Given the description of an element on the screen output the (x, y) to click on. 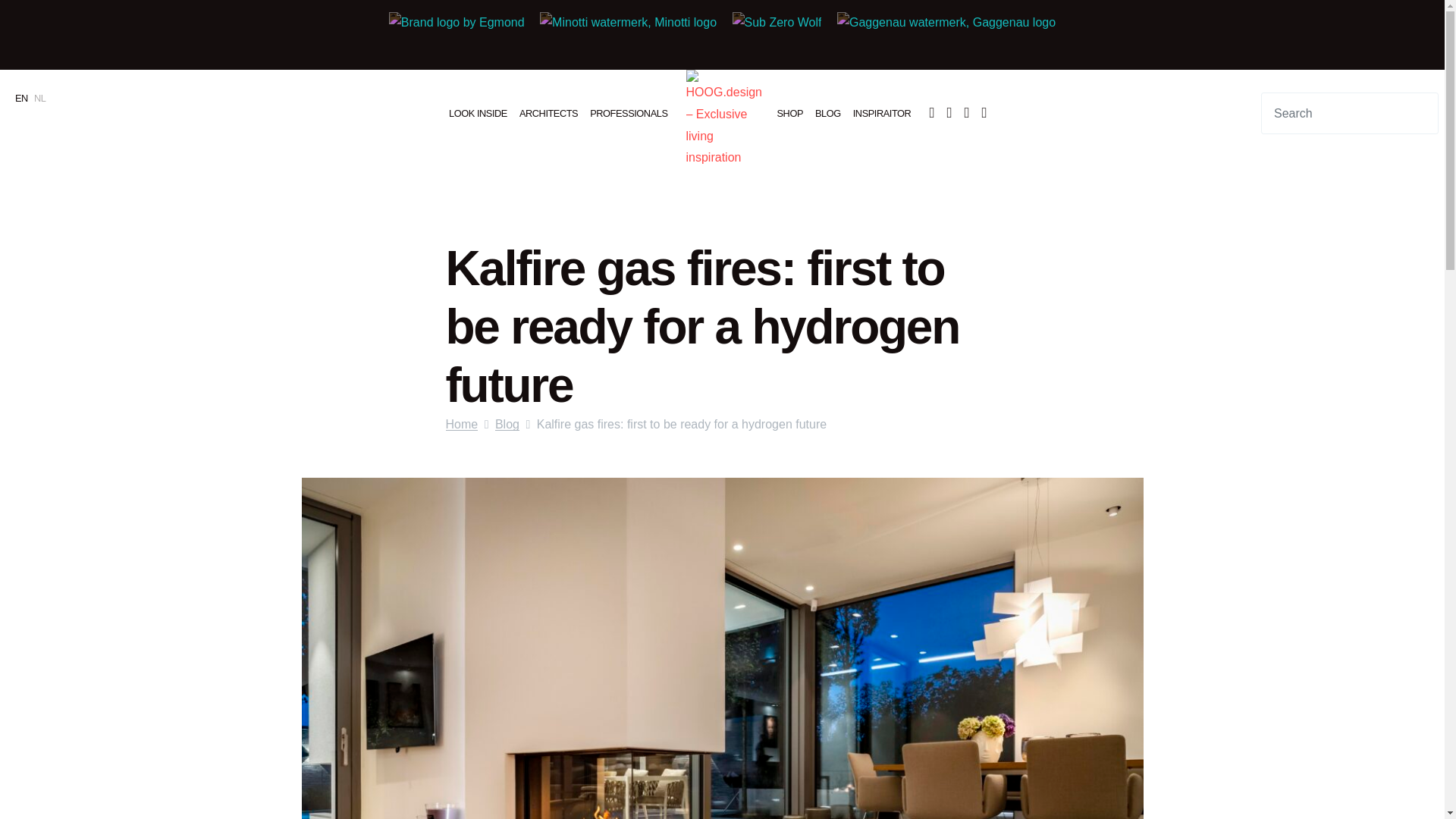
LOOK INSIDE (477, 112)
Shop (789, 112)
ARCHITECTS (548, 112)
Blog (828, 112)
PROFESSIONALS (627, 112)
Inspiraitor (882, 112)
Architects (548, 112)
Professionals (627, 112)
Look inside (477, 112)
